Given the description of an element on the screen output the (x, y) to click on. 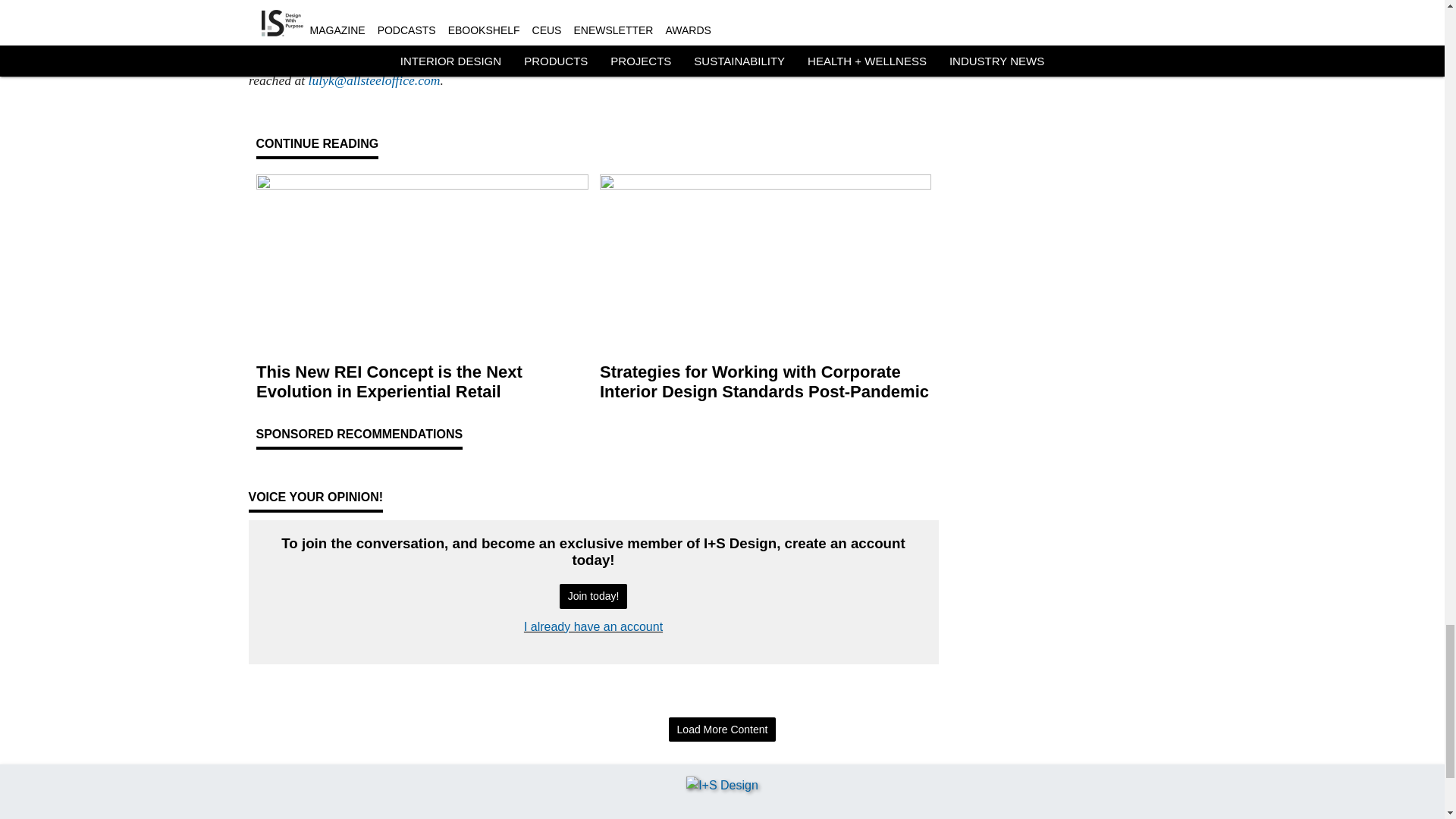
www.wri.org (368, 5)
Join today! (593, 596)
I already have an account (593, 626)
